Given the description of an element on the screen output the (x, y) to click on. 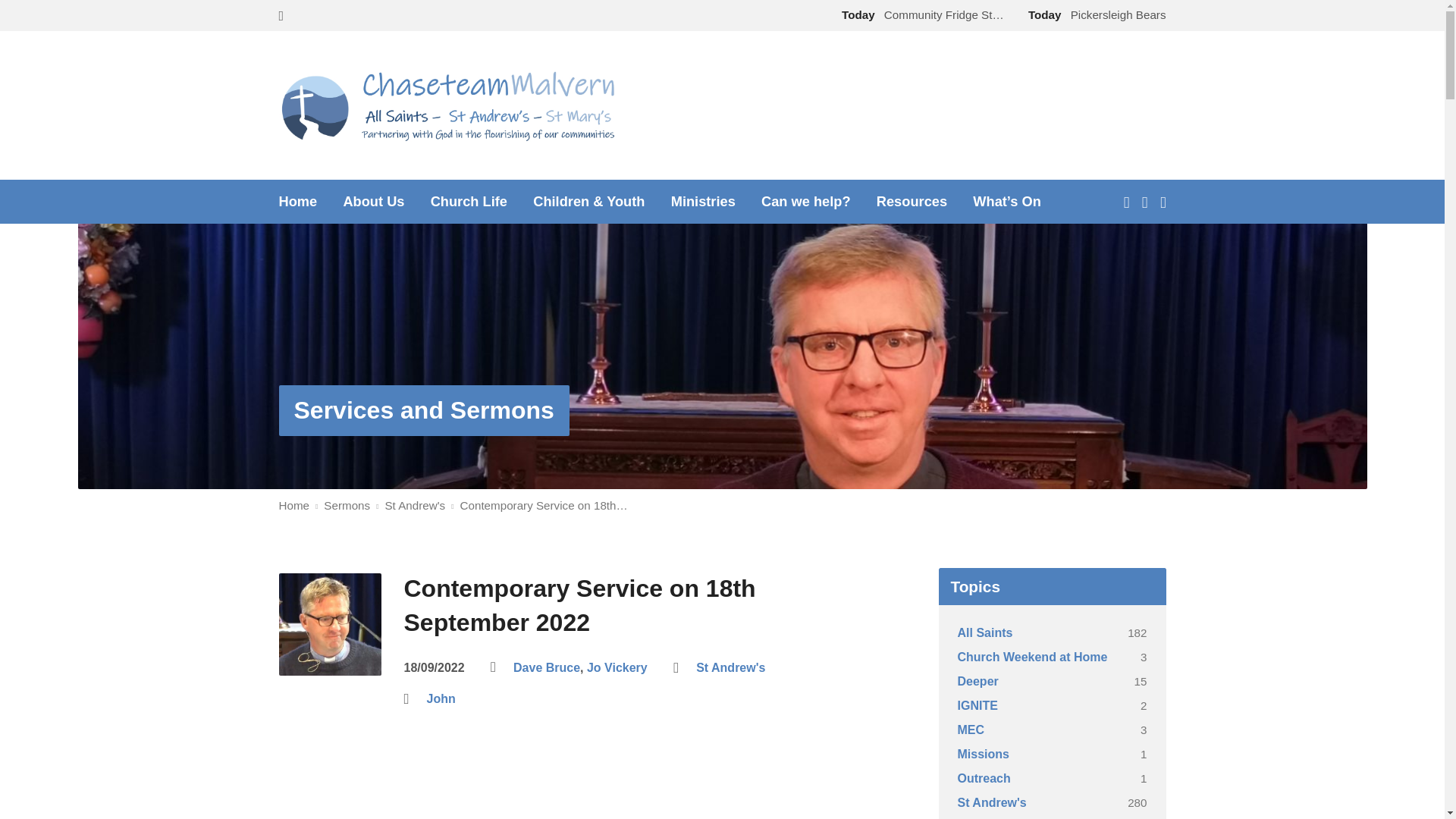
Services and Sermons (424, 410)
Today Pickersleigh Bears (1094, 14)
Church Life (468, 201)
St Andrew's Contemporary Service 18th September 2022 (574, 786)
Pickersleigh Bears (1094, 14)
Home (298, 201)
About Us (373, 201)
